Given the description of an element on the screen output the (x, y) to click on. 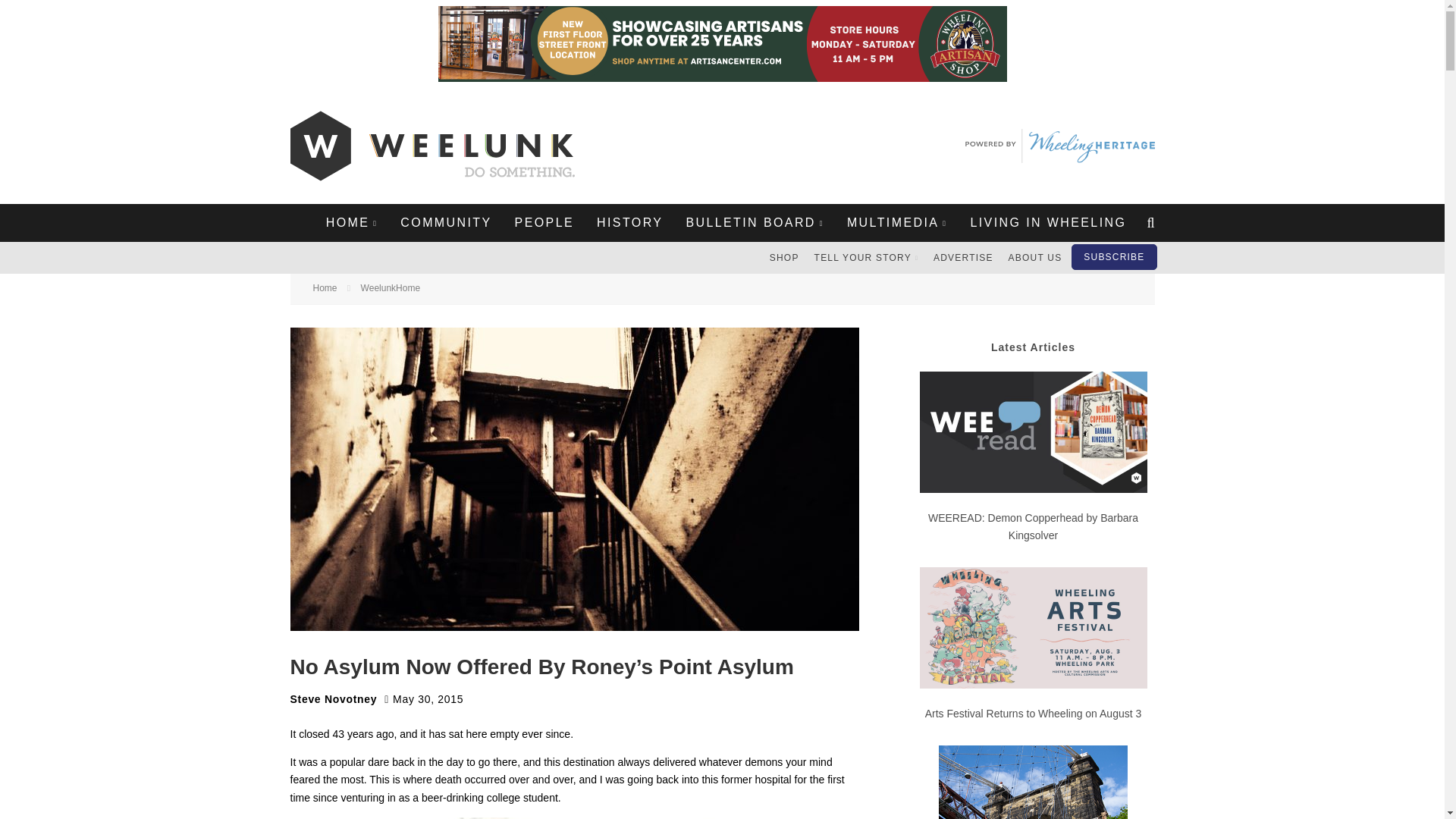
HOME (352, 222)
Posts by Steve Novotney (333, 698)
BULLETIN BOARD (754, 222)
MULTIMEDIA (897, 222)
HISTORY (629, 222)
PEOPLE (544, 222)
COMMUNITY (445, 222)
